Given the description of an element on the screen output the (x, y) to click on. 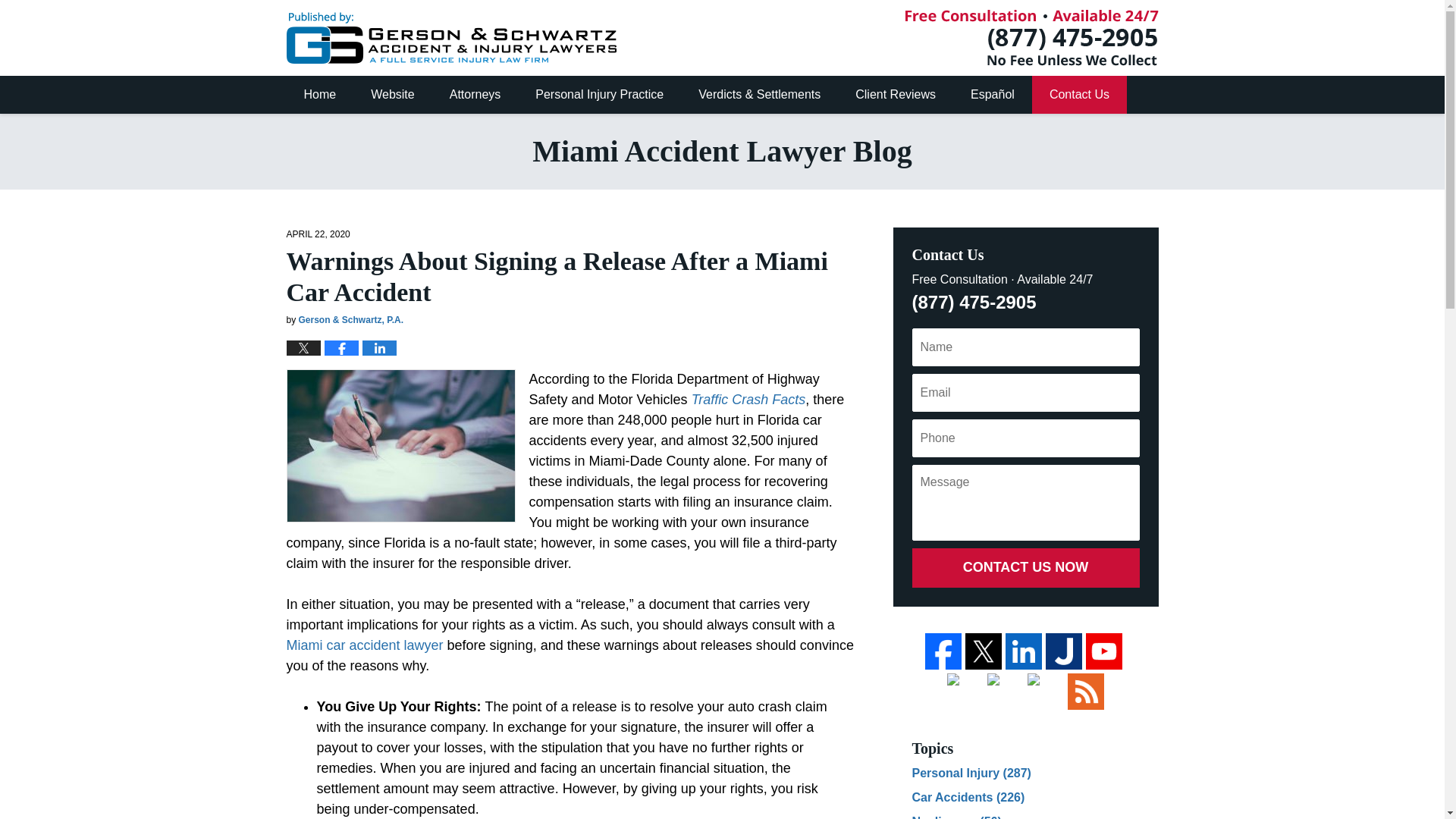
Personal Injury Practice (599, 94)
Attorneys (475, 94)
LinkedIn (1024, 651)
Contact Us (1079, 94)
Twitter (983, 651)
Client Reviews (895, 94)
Miami car accident lawyer (365, 645)
YouTube (1104, 651)
Please enter a valid phone number. (1024, 438)
Pinterest (1005, 691)
Facebook (942, 651)
Traffic Crash Facts (746, 399)
Website (392, 94)
Home (319, 94)
Miami Accident Lawyer Blog (450, 37)
